Given the description of an element on the screen output the (x, y) to click on. 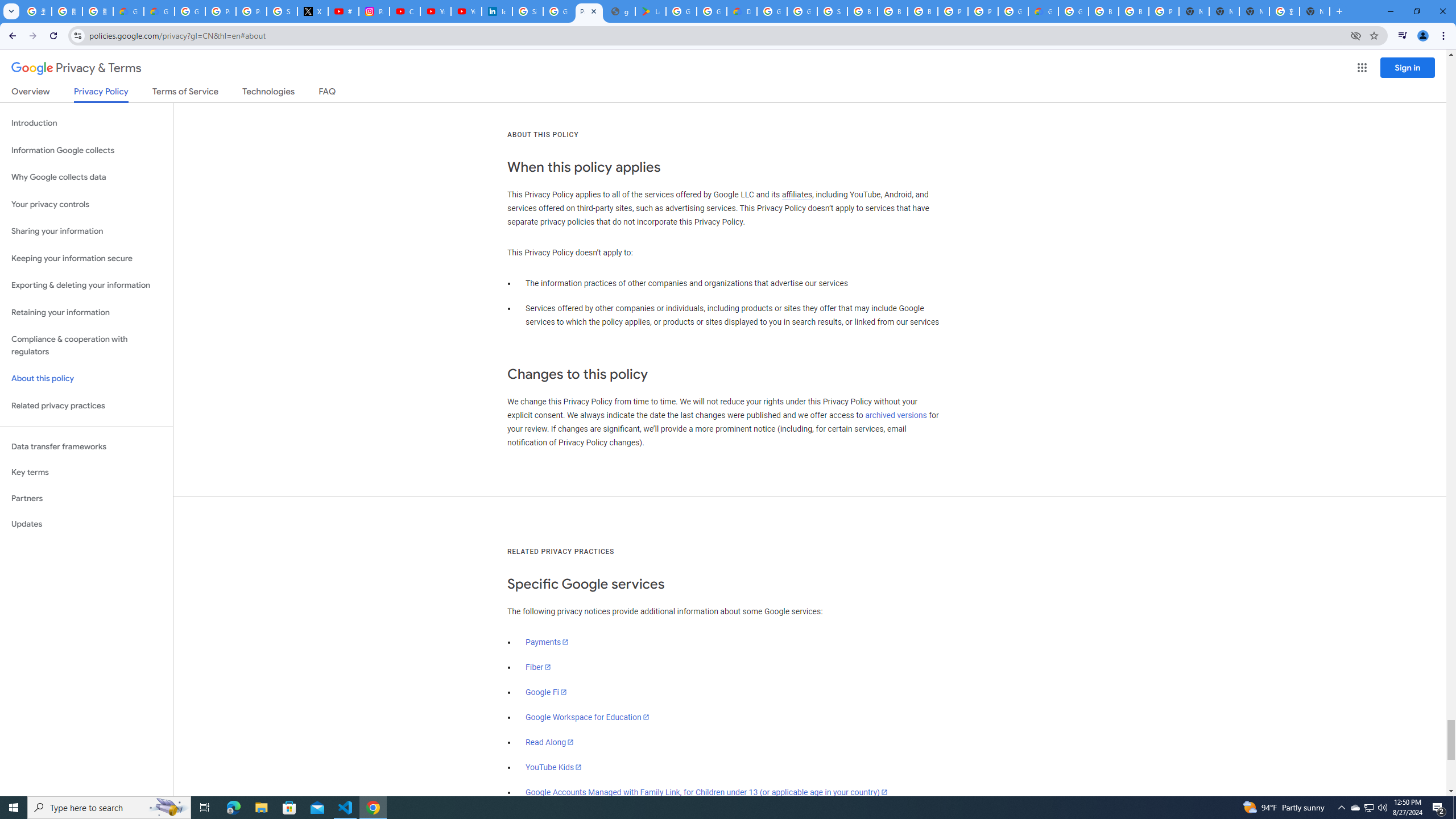
YouTube Kids (553, 767)
Google Cloud Platform (1012, 11)
Browse Chrome as a guest - Computer - Google Chrome Help (922, 11)
Related privacy practices (86, 405)
Read Along (550, 741)
Sign in - Google Accounts (282, 11)
Control your music, videos, and more (1402, 35)
Compliance & cooperation with regulators (86, 345)
Key terms (86, 472)
Last Shelter: Survival - Apps on Google Play (650, 11)
